Given the description of an element on the screen output the (x, y) to click on. 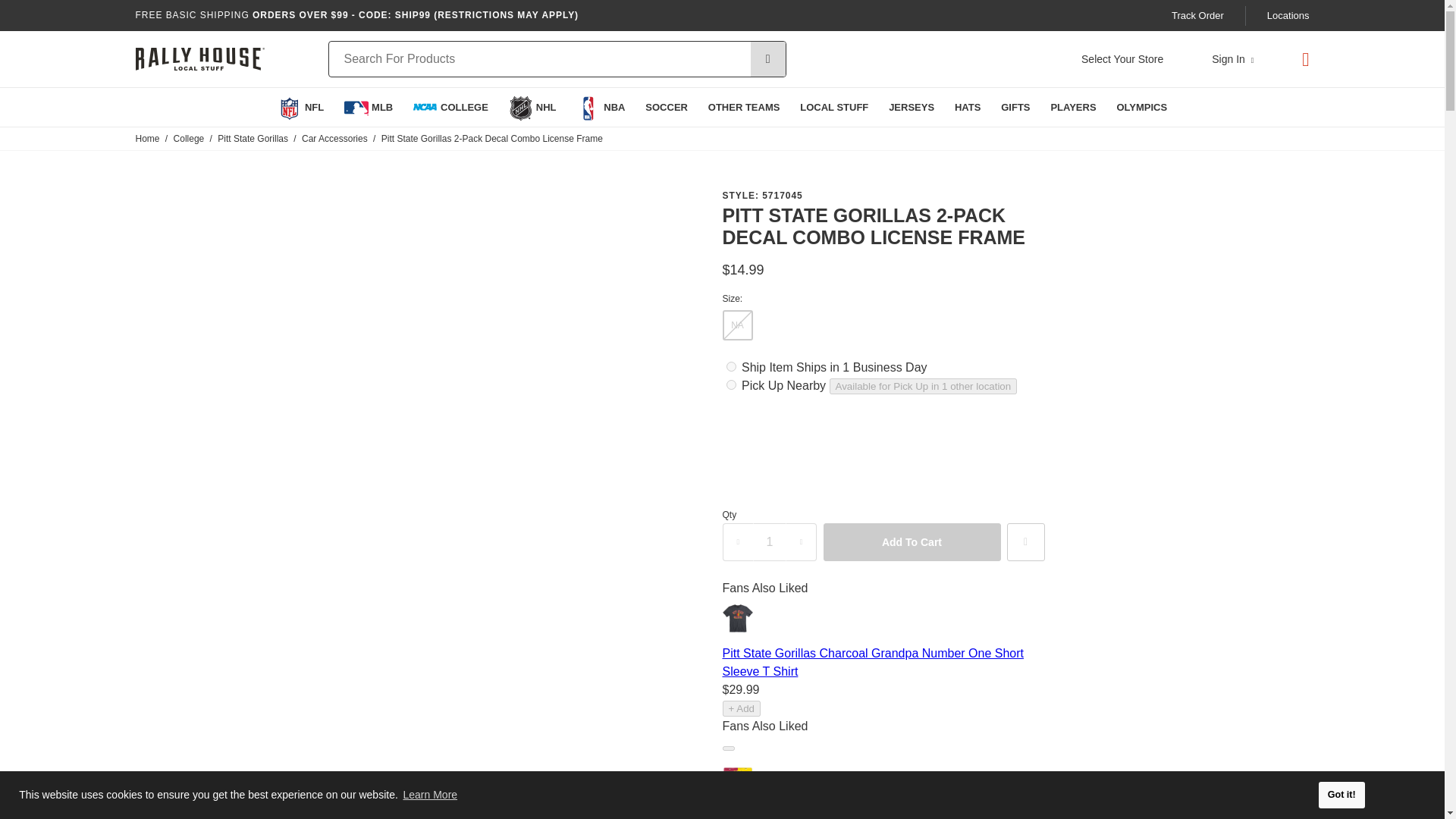
Sign In (1232, 59)
Locations (1287, 15)
Select Your Store (1122, 59)
Track Order (1198, 15)
Search (768, 58)
NA (737, 325)
Learn More (430, 794)
Size (882, 298)
Got it! (1342, 795)
Rally House (199, 59)
Add To Cart (912, 542)
NFL (299, 106)
